Given the description of an element on the screen output the (x, y) to click on. 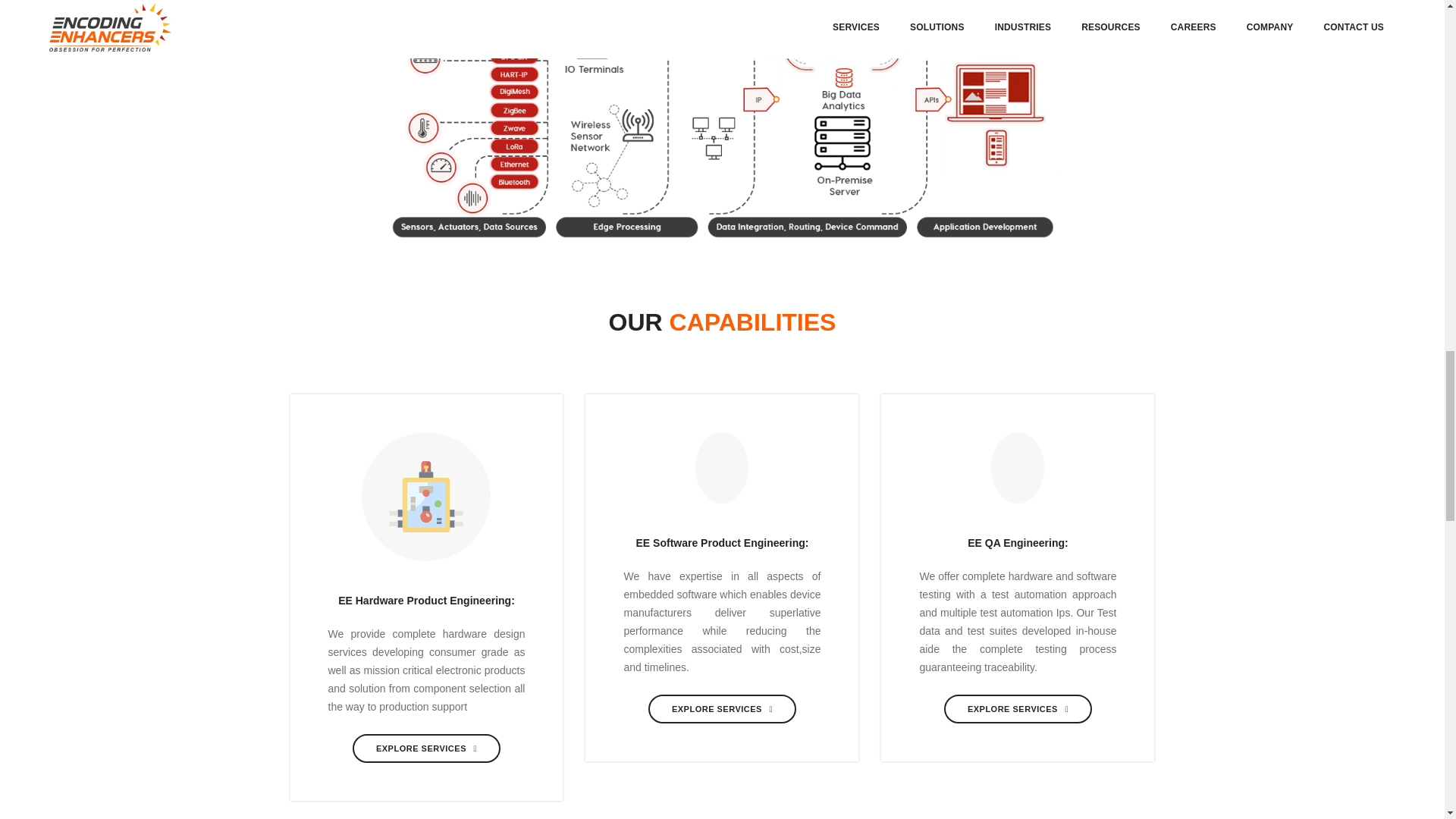
EXPLORE SERVICES (426, 747)
EXPLORE SERVICES (1017, 708)
EXPLORE SERVICES (721, 708)
